Given the description of an element on the screen output the (x, y) to click on. 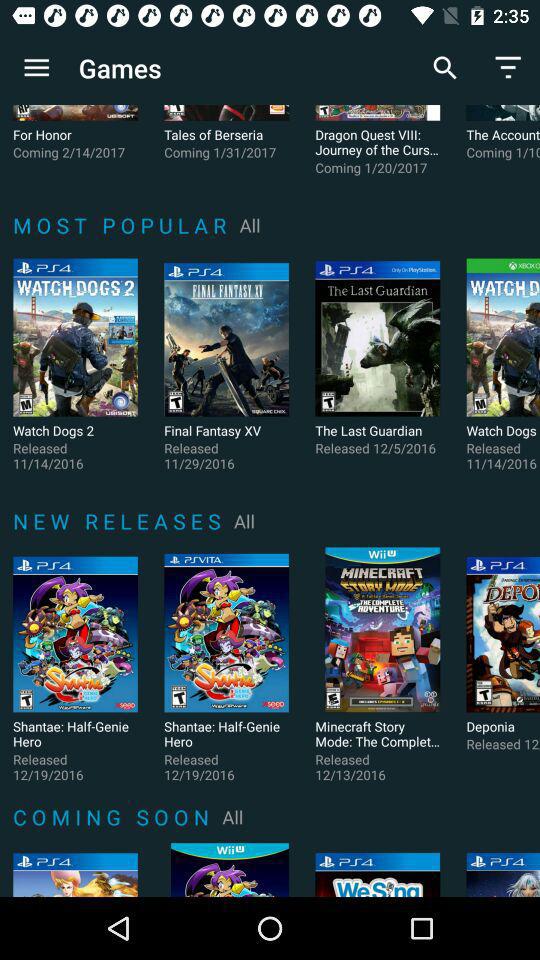
swipe until n e w (120, 520)
